Given the description of an element on the screen output the (x, y) to click on. 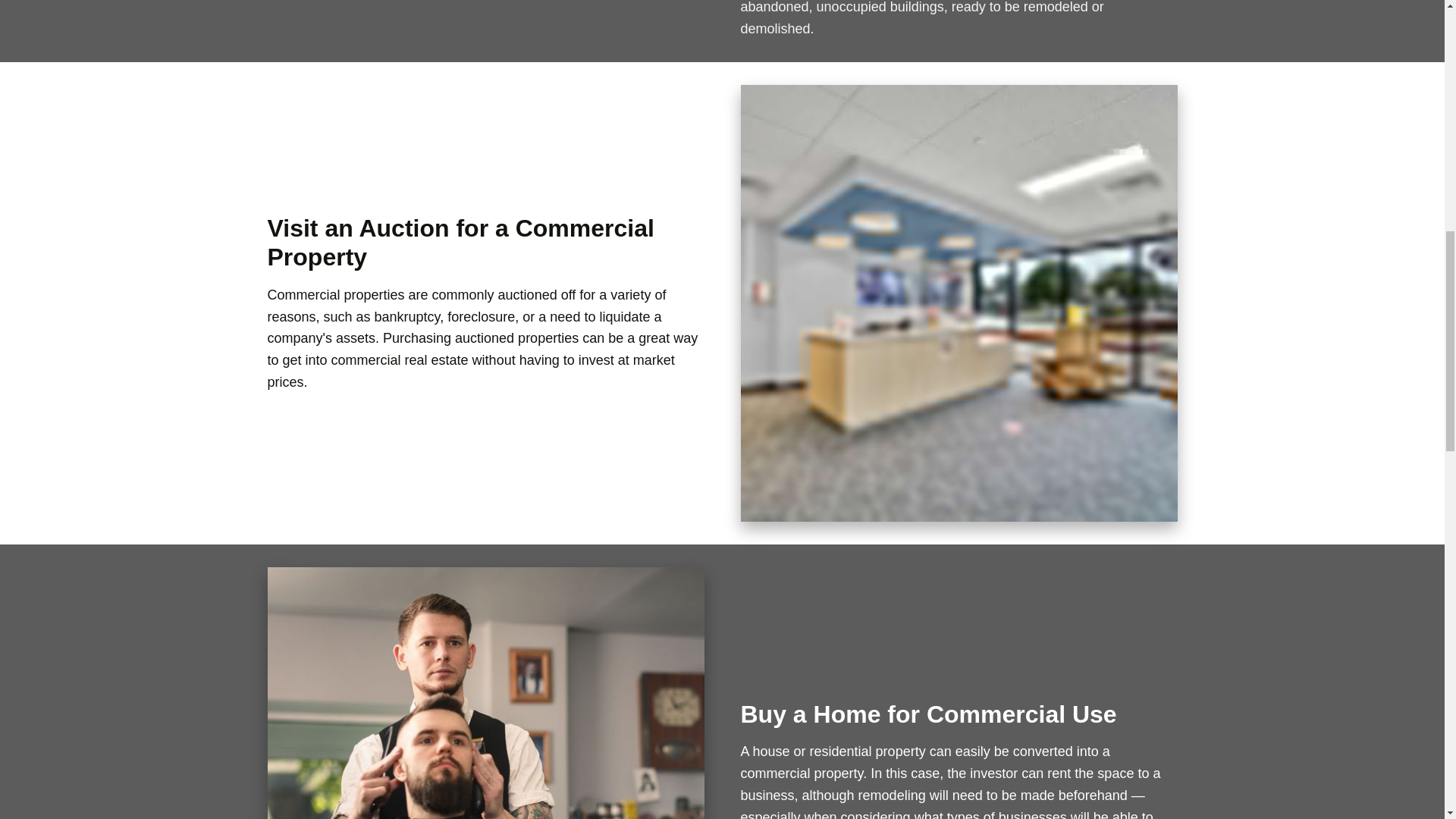
a person using a house as a barber shop (484, 693)
